Given the description of an element on the screen output the (x, y) to click on. 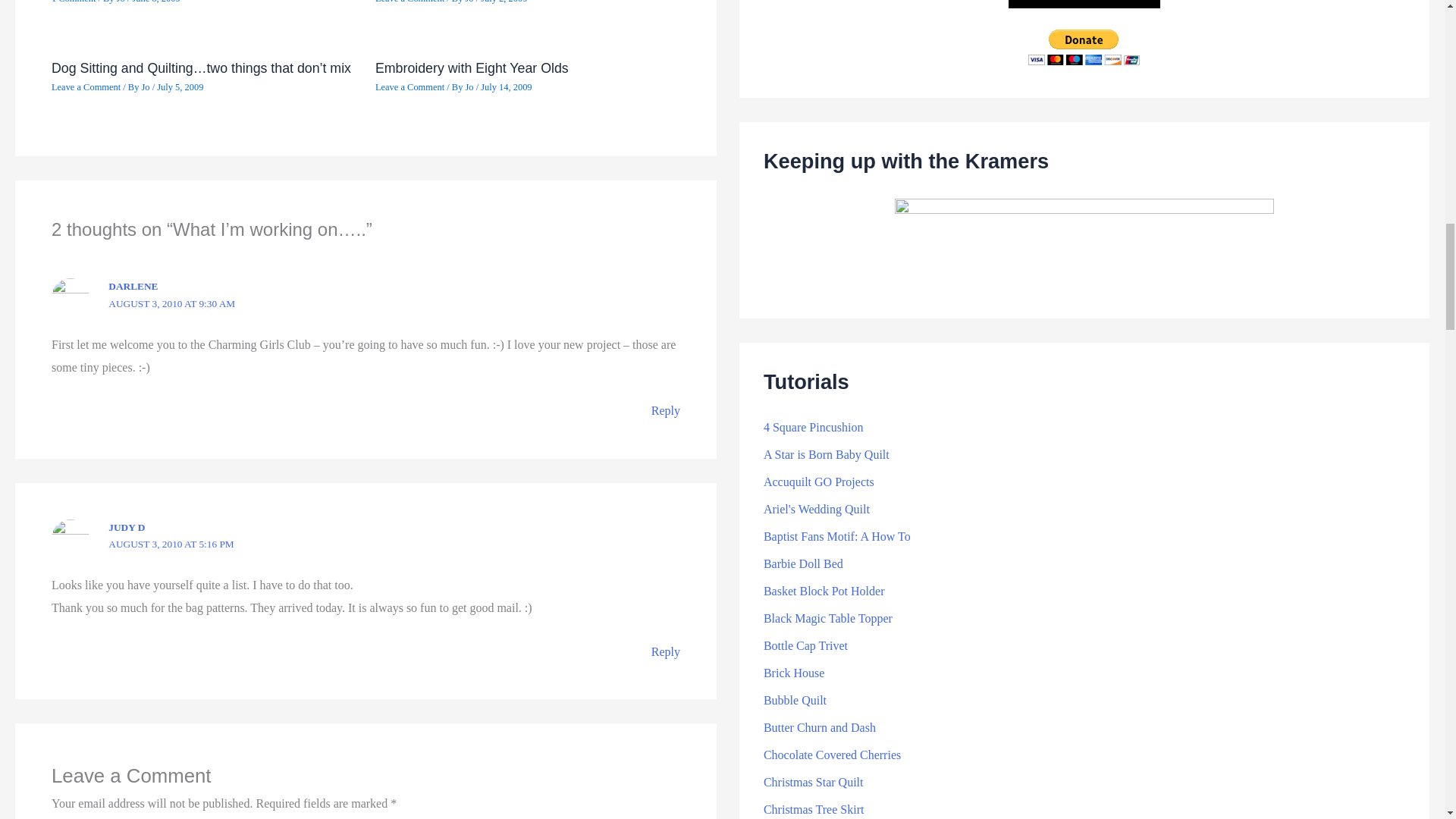
View all posts by Jo (470, 86)
View all posts by Jo (122, 2)
PayPal - The safer, easier way to pay online! (1083, 47)
Bottle Cap Trivet Tutorial (804, 645)
View all posts by Jo (470, 2)
View all posts by Jo (146, 86)
